Given the description of an element on the screen output the (x, y) to click on. 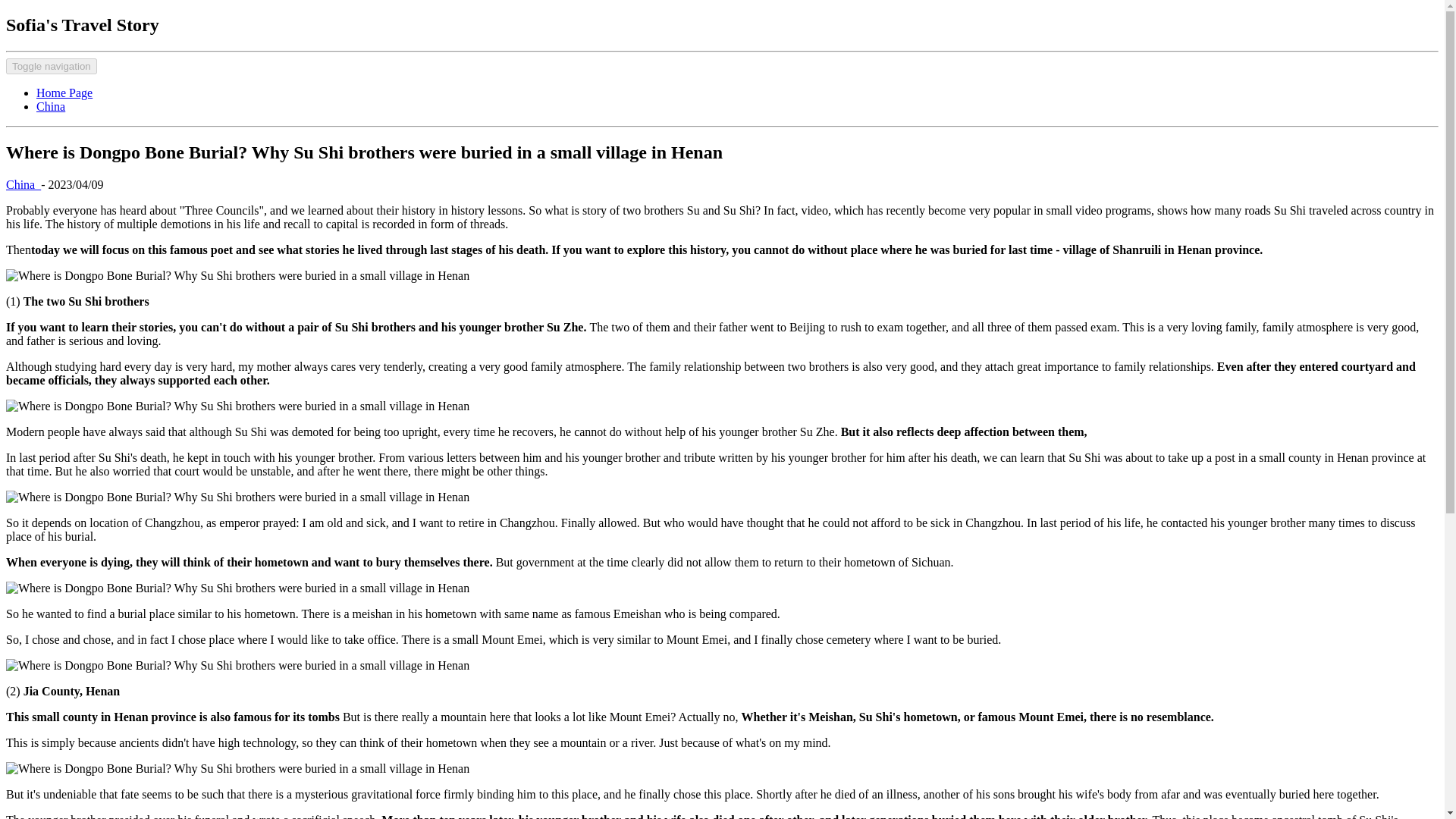
China (50, 106)
Toggle navigation (51, 66)
Home Page (64, 92)
China   (22, 184)
